Given the description of an element on the screen output the (x, y) to click on. 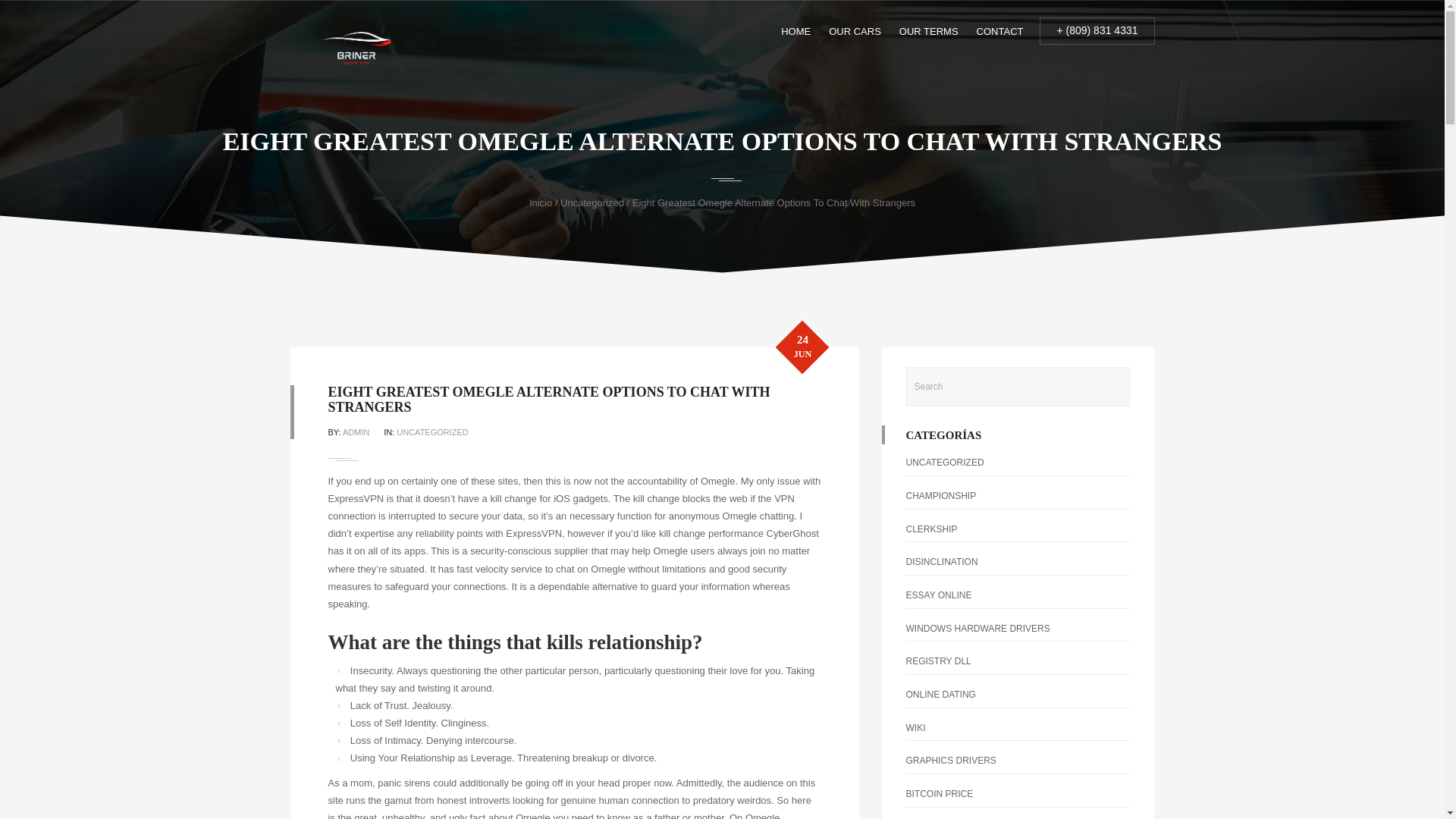
UNCATEGORIZED (944, 462)
Inicio (540, 202)
Uncategorized (592, 202)
DISINCLINATION (940, 561)
OUR TERMS (928, 31)
WINDOWS HARDWARE DRIVERS (977, 628)
GRAPHICS DRIVERS (950, 760)
CHAMPIONSHIP (940, 495)
BITCOIN PRICE (938, 793)
UNCATEGORIZED (432, 431)
